Given the description of an element on the screen output the (x, y) to click on. 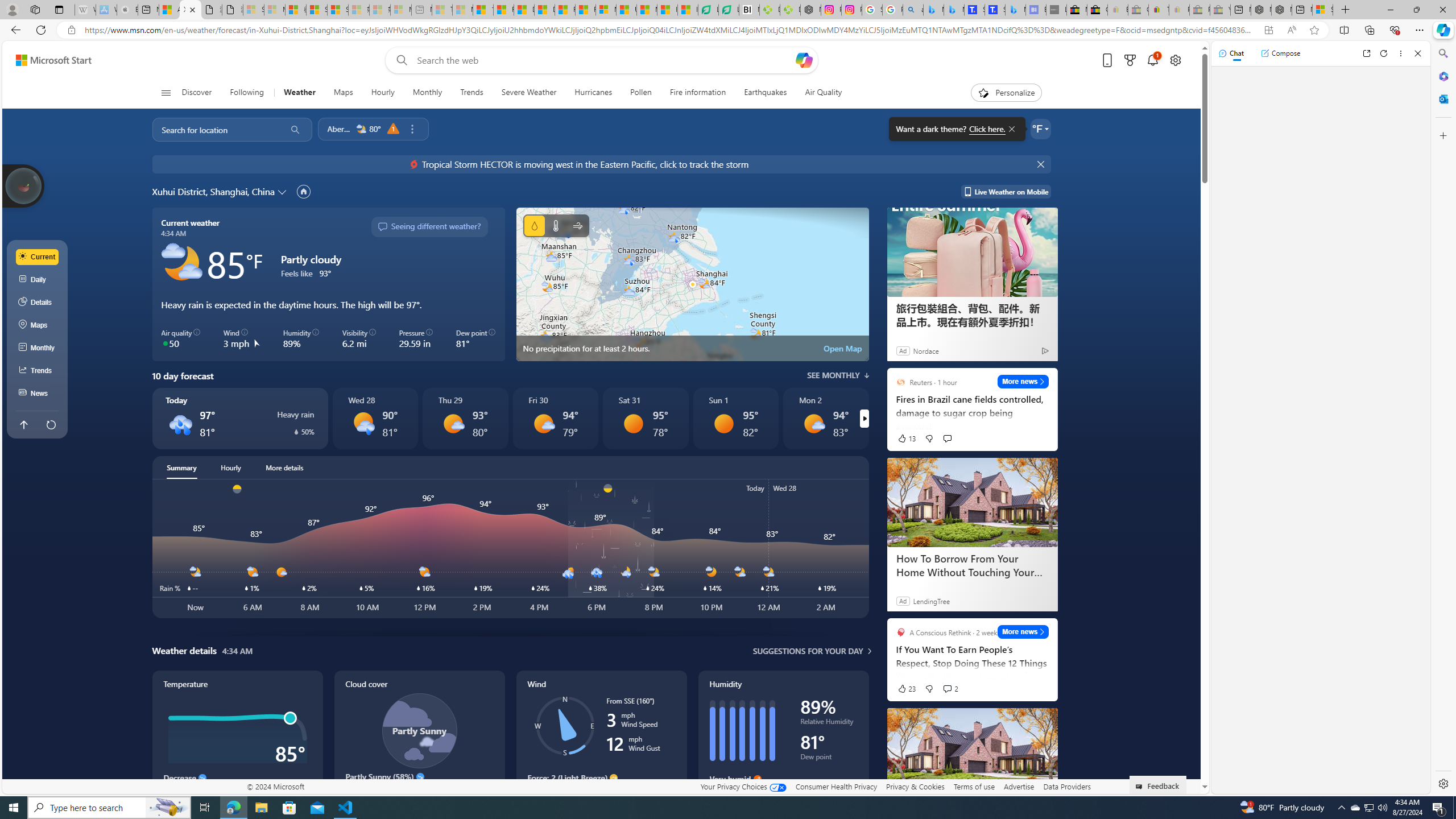
Humidity 89% (301, 338)
US Heat Deaths Soared To Record High Last Year (626, 9)
Consumer Health Privacy (835, 785)
Skip to footer (46, 59)
Terms of use (973, 786)
How To Borrow From Your Home Without Touching Your Mortgage (971, 565)
Cloud cover (419, 741)
Seeing different weather? (429, 227)
New tab - Sleeping (421, 9)
